Given the description of an element on the screen output the (x, y) to click on. 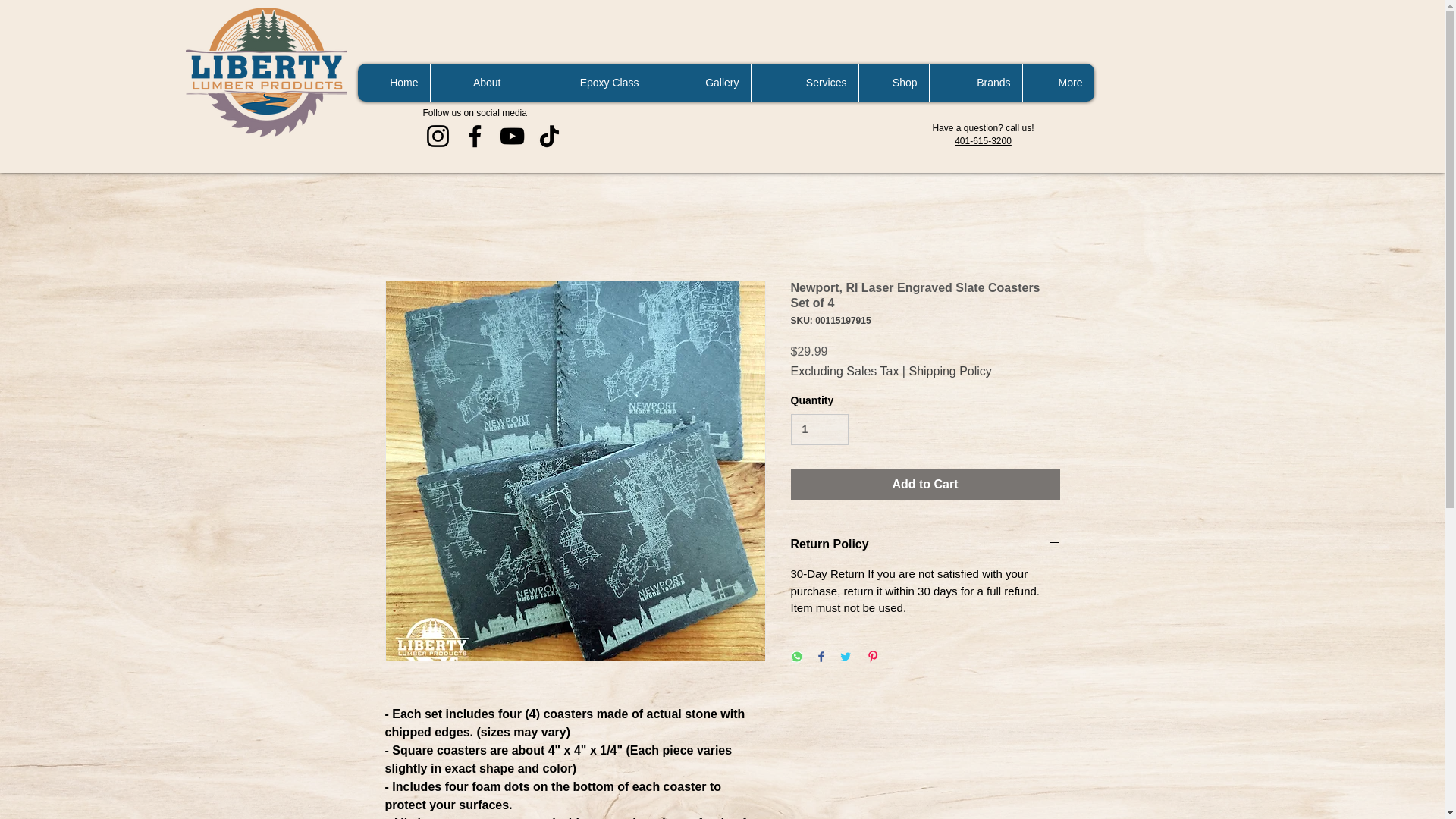
Gallery (700, 82)
Add to Cart (924, 484)
401-615-3200 (983, 140)
Epoxy Class (581, 82)
Shipping Policy (949, 371)
Return Policy (924, 544)
Shop (893, 82)
Brands (975, 82)
About (470, 82)
Home (393, 82)
Services (805, 82)
1 (818, 429)
